Given the description of an element on the screen output the (x, y) to click on. 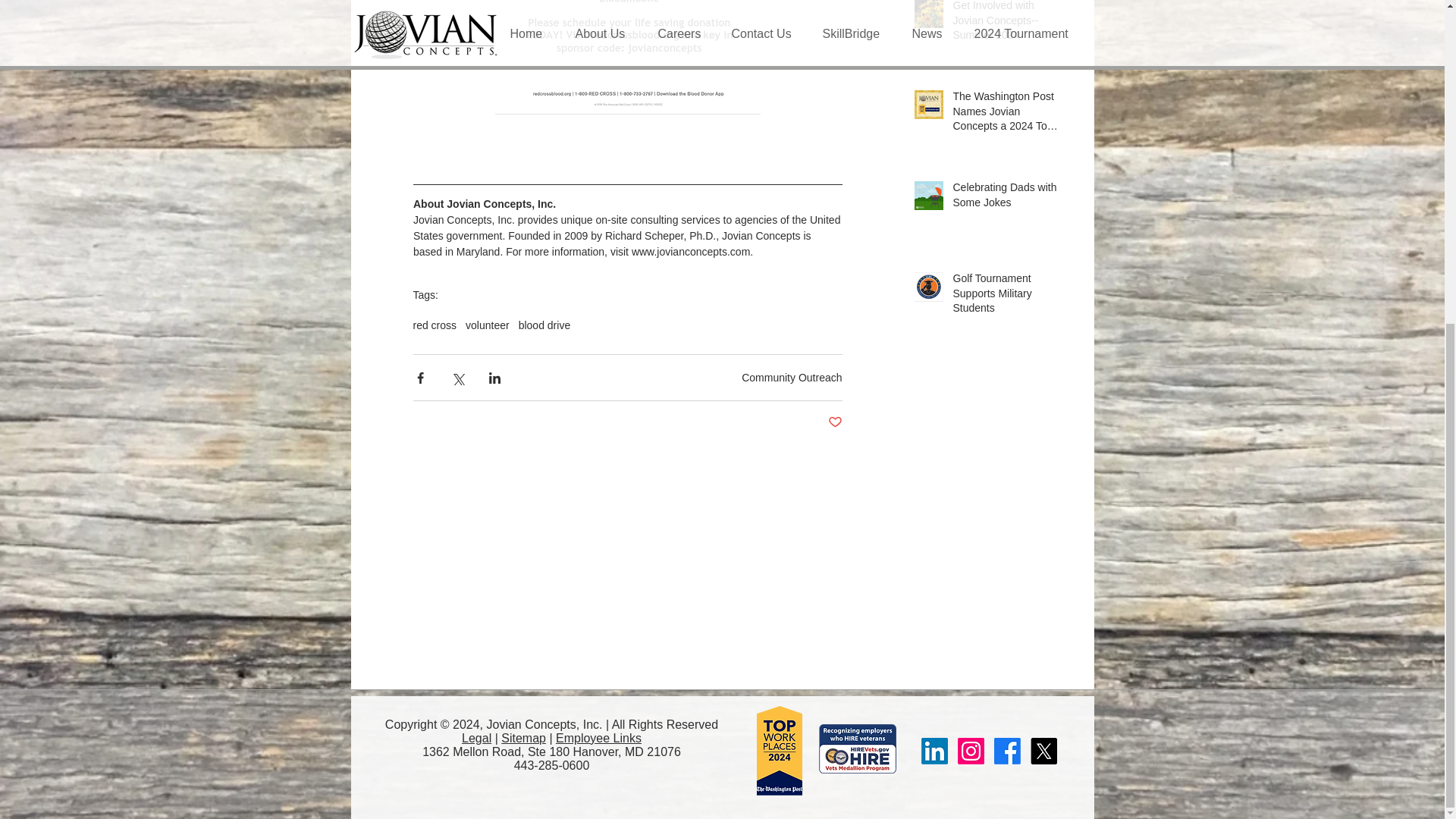
Post not marked as liked (835, 422)
Employee Links (599, 738)
blood drive (544, 325)
Community Outreach (791, 377)
Golf Tournament Supports Military Students (1006, 296)
Celebrating Dads with Some Jokes (1006, 198)
red cross (434, 325)
volunteer (487, 325)
Get Involved with Jovian Concepts-- Summer 2024 (1006, 24)
